Given the description of an element on the screen output the (x, y) to click on. 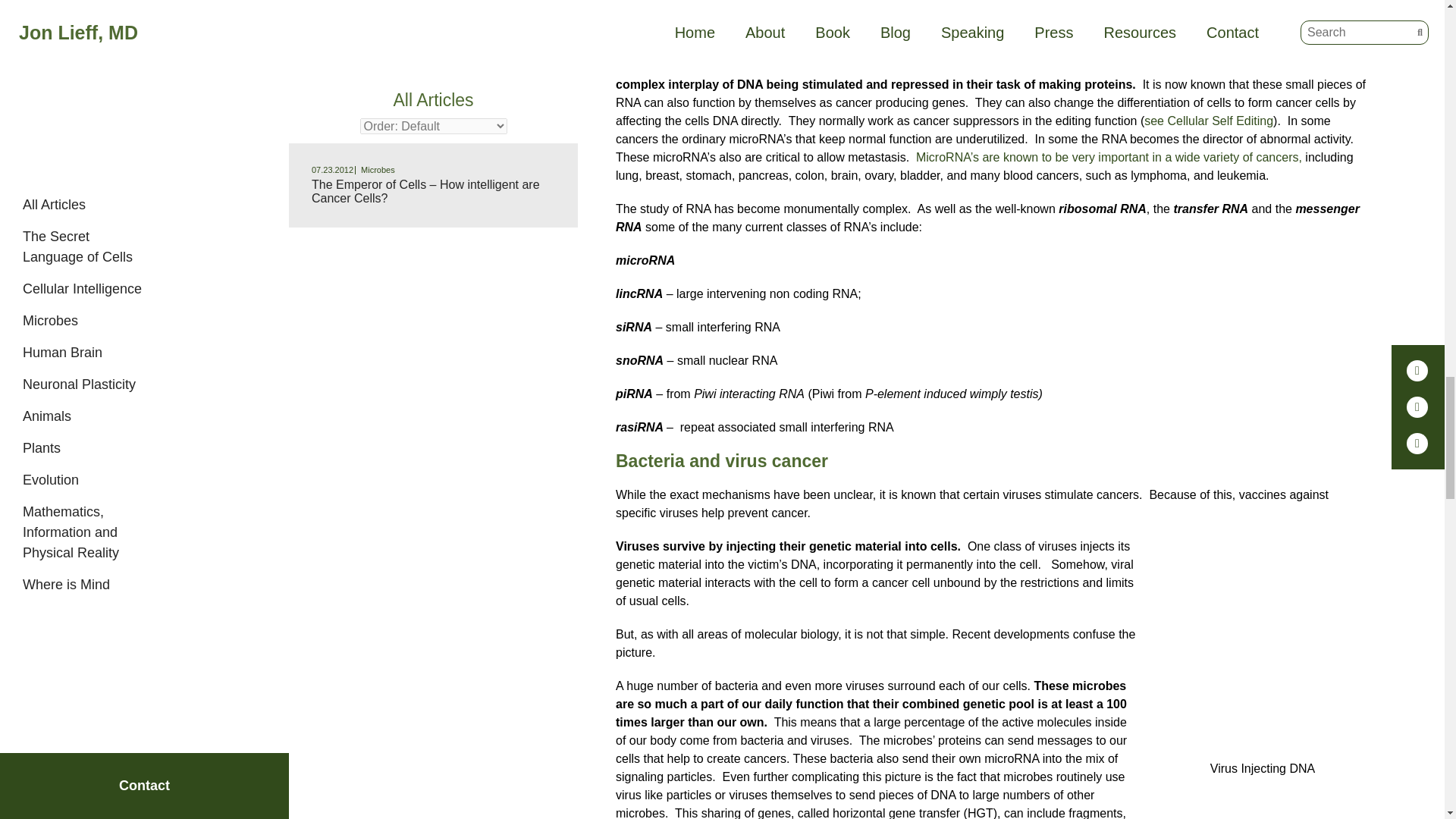
see Cellular Self Editing (1208, 120)
